Given the description of an element on the screen output the (x, y) to click on. 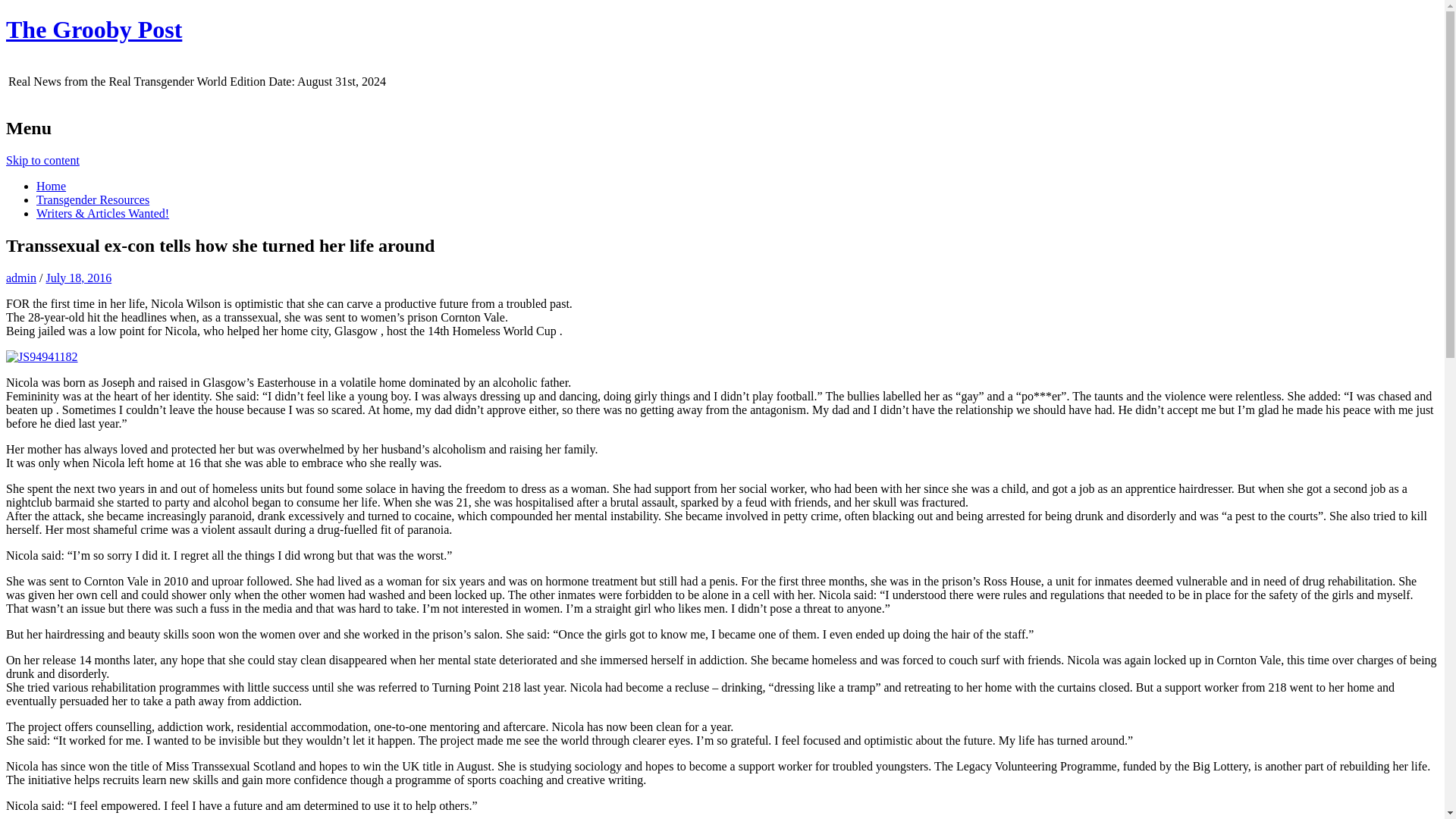
July 18, 2016 (78, 277)
Home (50, 185)
Transgender Resources (92, 199)
Skip to content (42, 160)
The Grooby Post (93, 29)
admin (20, 277)
The Grooby Post (93, 29)
Skip to content (42, 160)
